Given the description of an element on the screen output the (x, y) to click on. 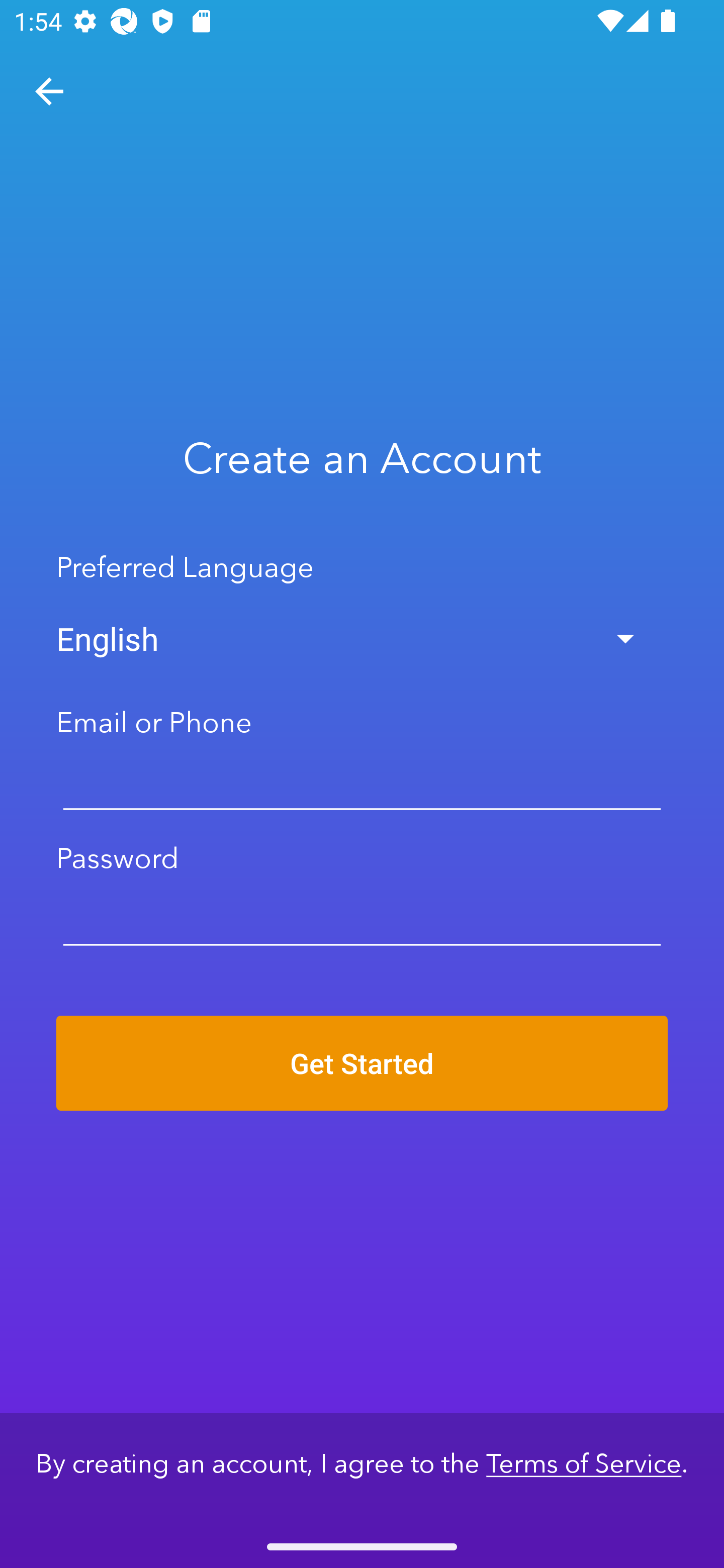
Navigate up (49, 91)
English (361, 638)
Get Started (361, 1063)
